Given the description of an element on the screen output the (x, y) to click on. 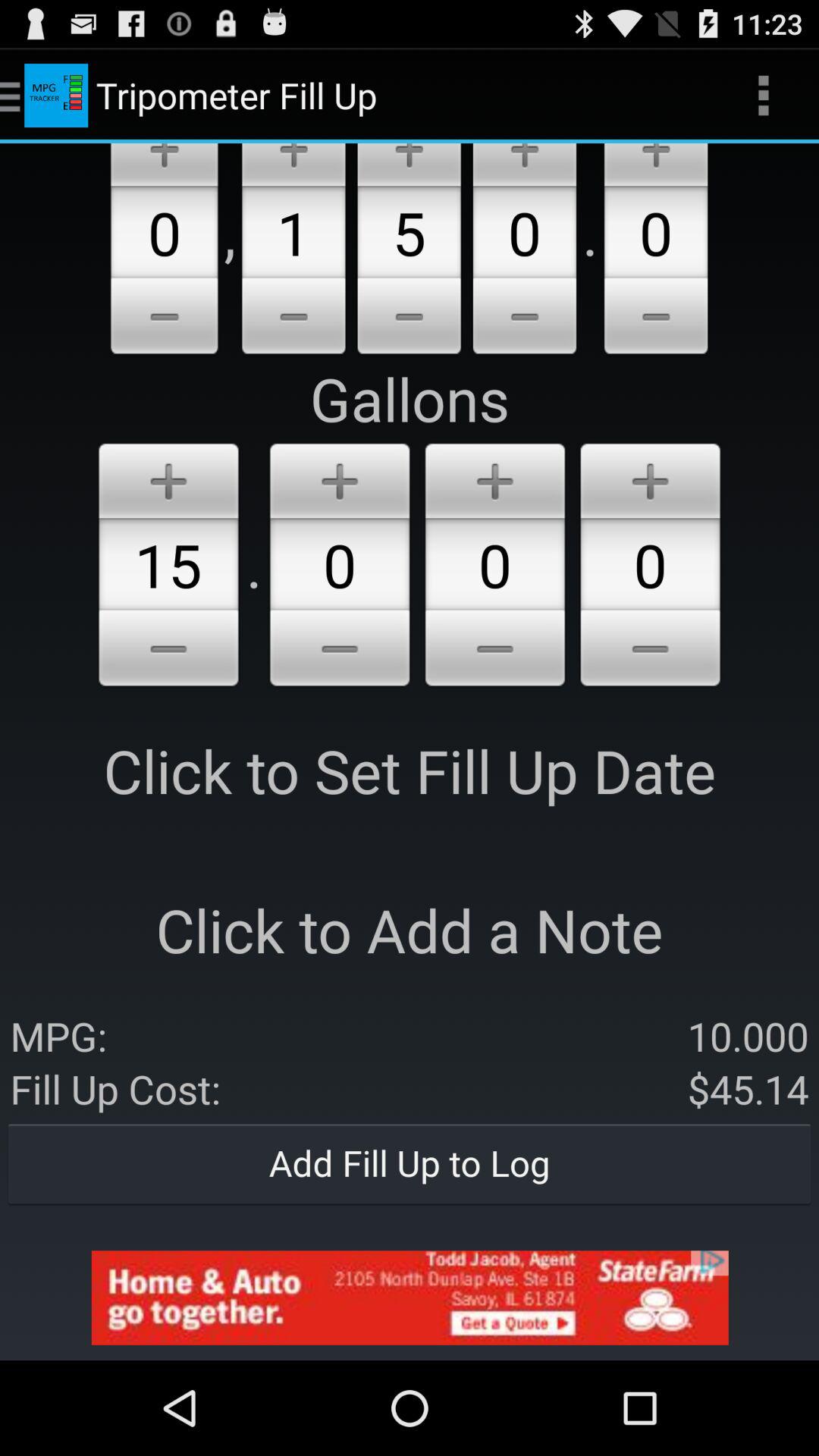
click the minus option (655, 318)
